Given the description of an element on the screen output the (x, y) to click on. 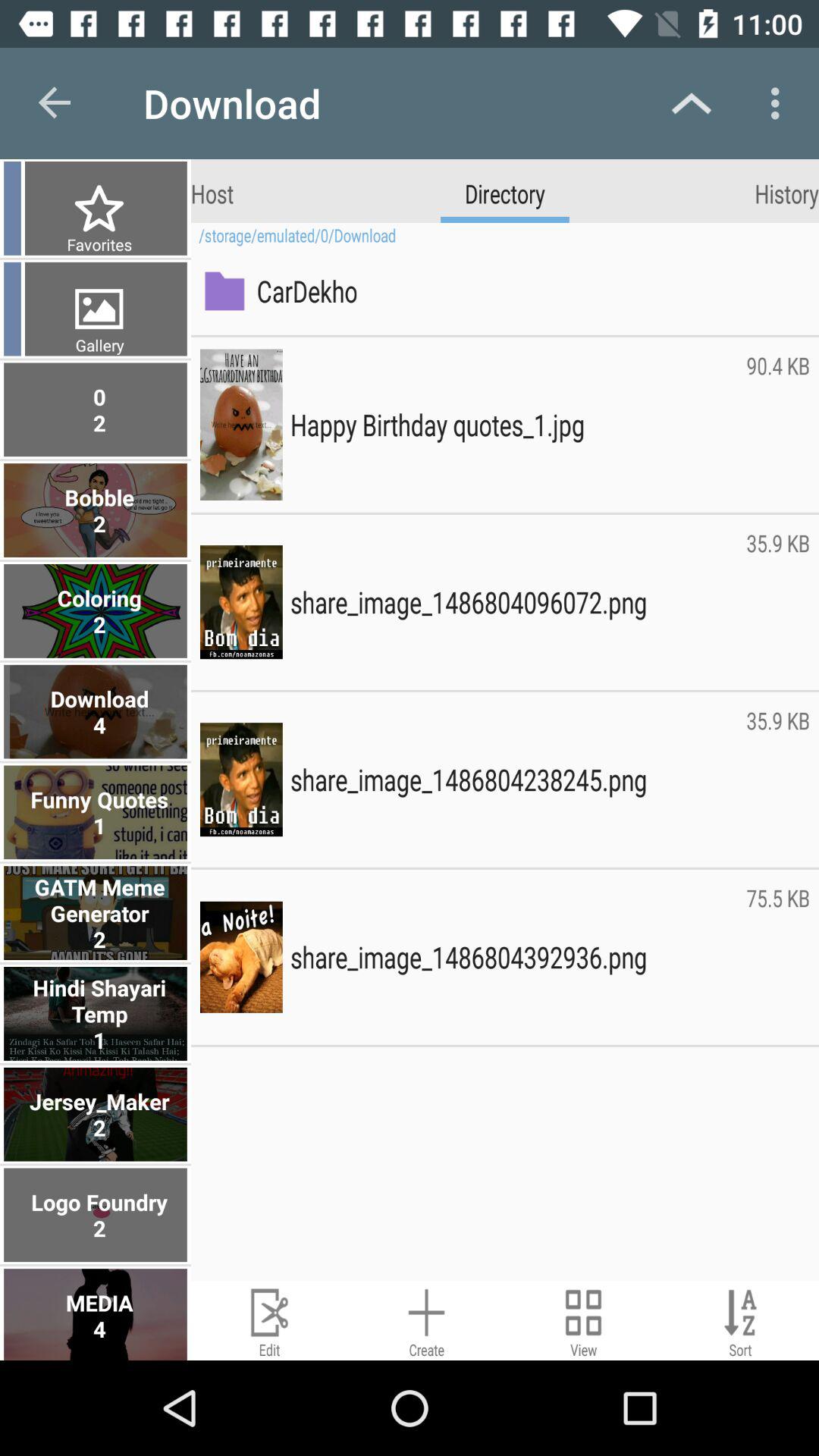
press the item to the left of the download (55, 103)
